Given the description of an element on the screen output the (x, y) to click on. 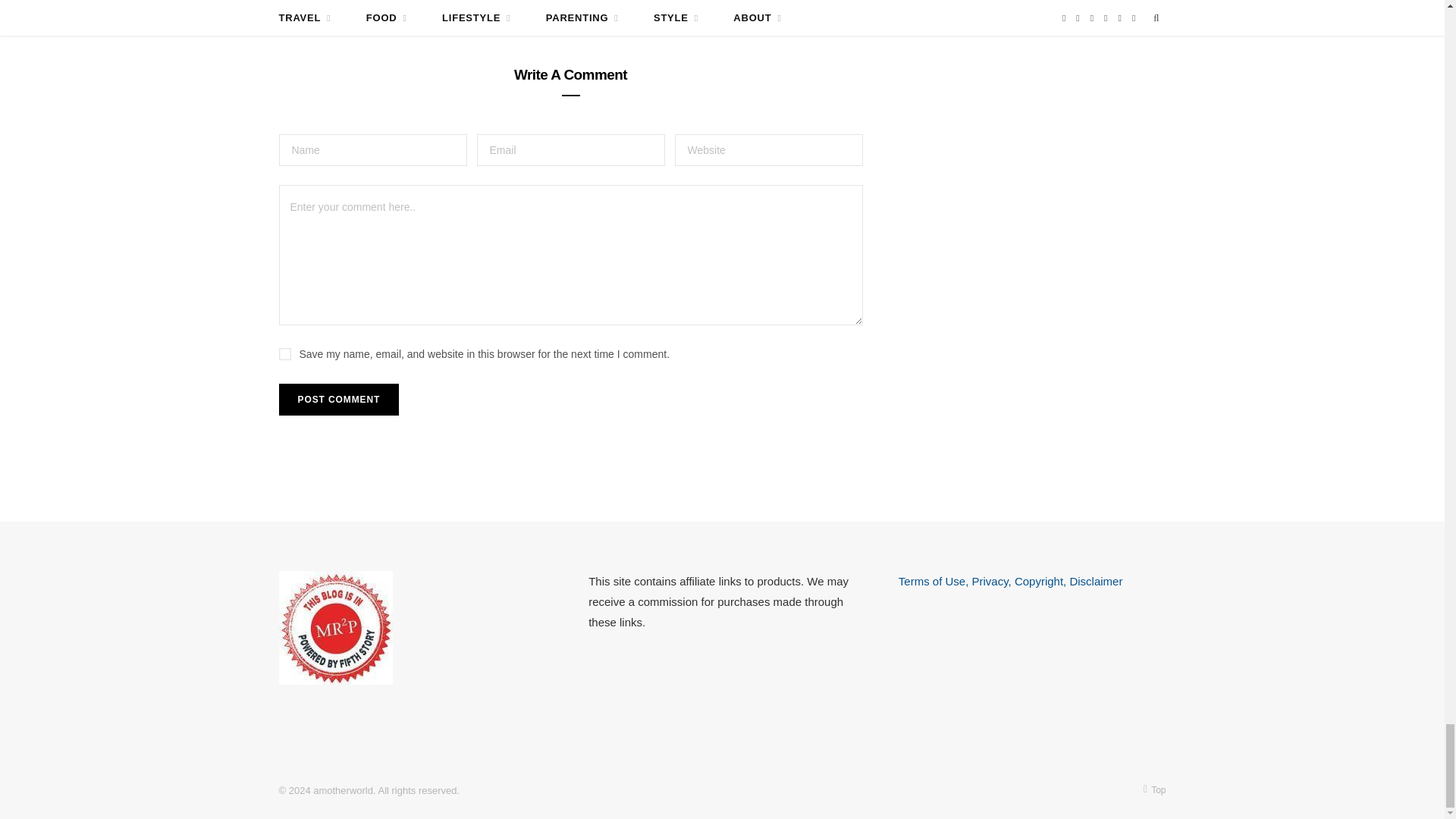
yes (285, 354)
Post Comment (338, 399)
